Given the description of an element on the screen output the (x, y) to click on. 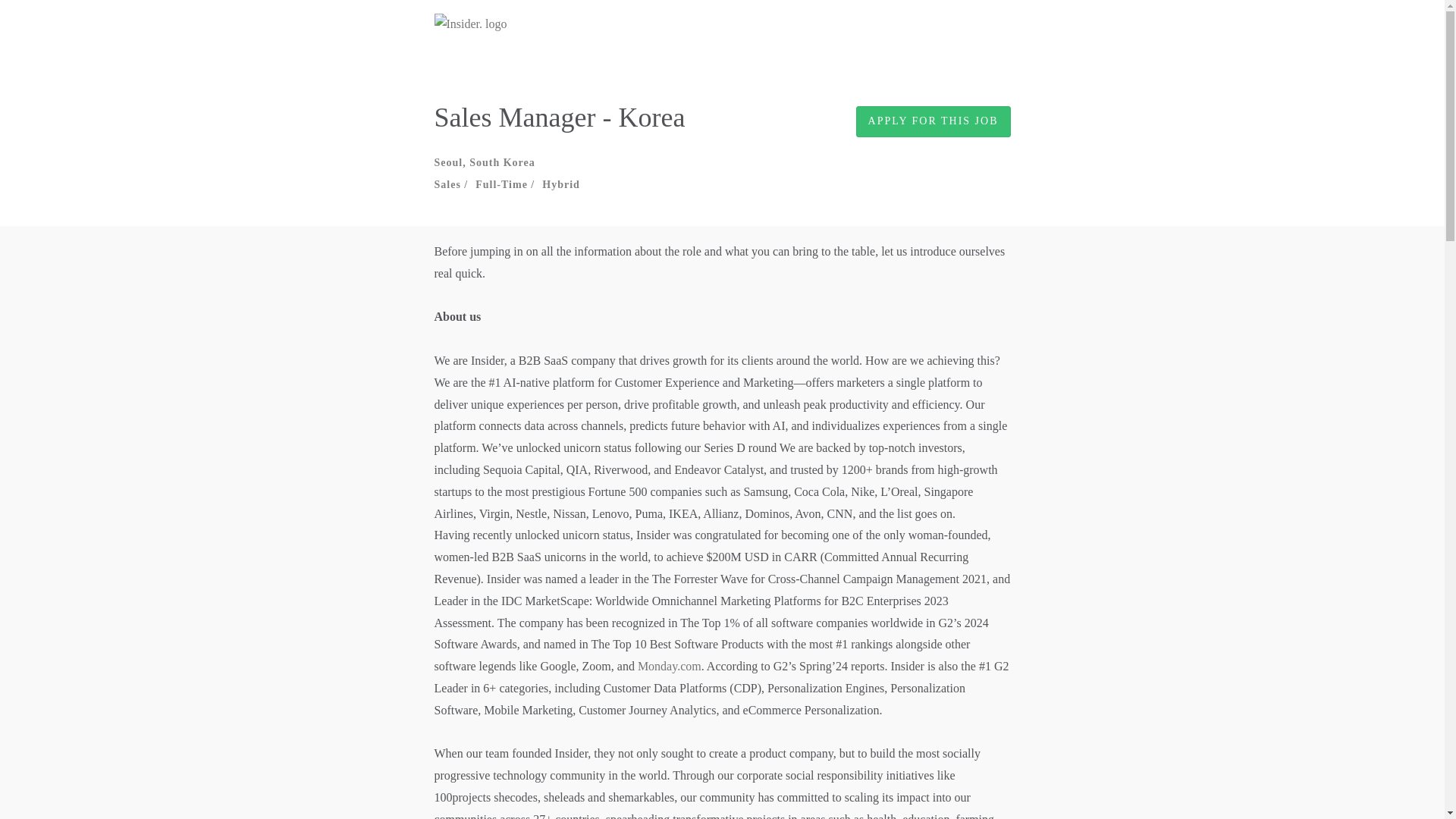
Monday.com (669, 666)
APPLY FOR THIS JOB (933, 121)
